Given the description of an element on the screen output the (x, y) to click on. 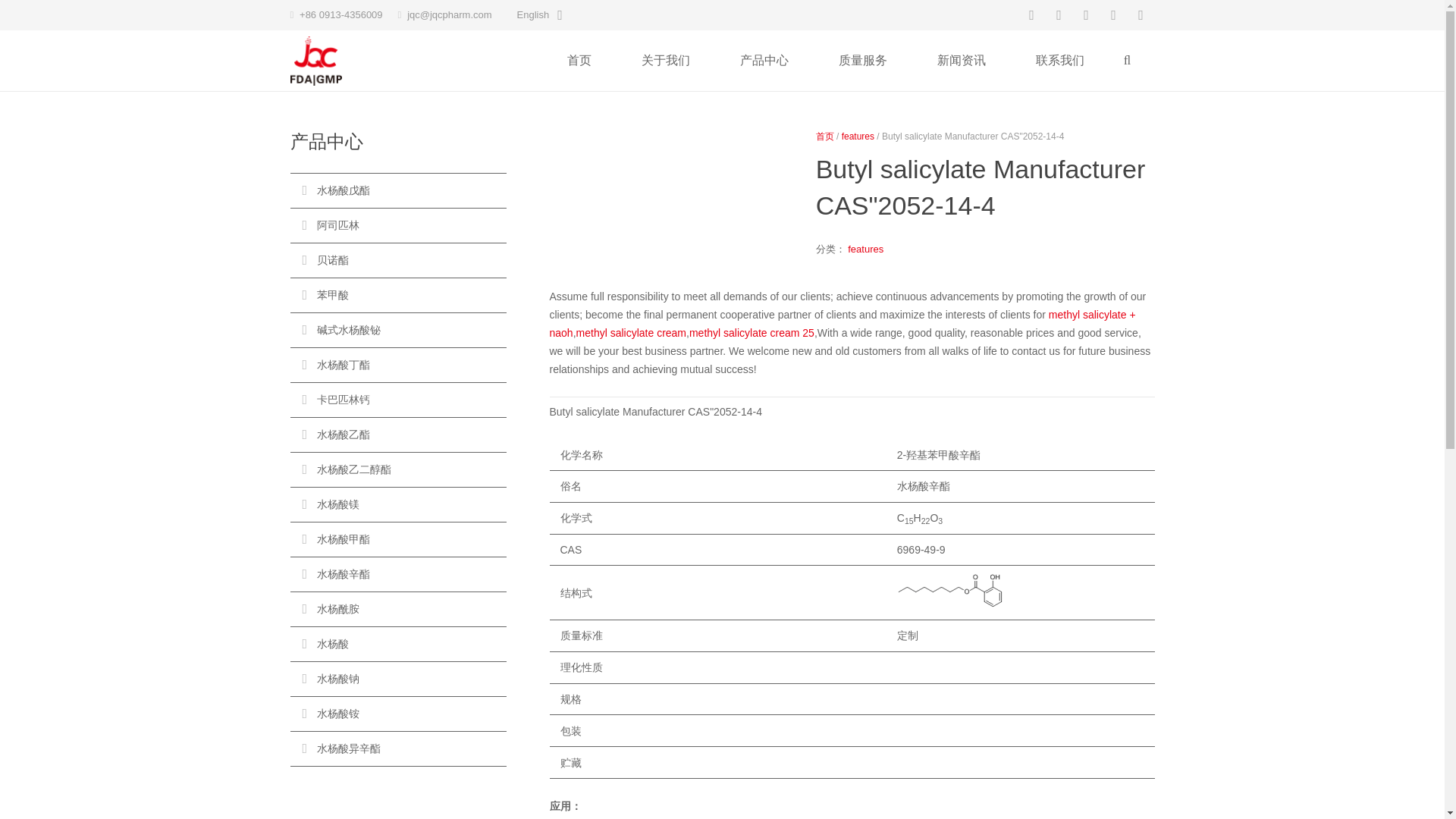
methyl salicylate cream (631, 332)
English (538, 14)
features (865, 248)
methyl salicylate cream 25 (750, 332)
features (858, 136)
